Given the description of an element on the screen output the (x, y) to click on. 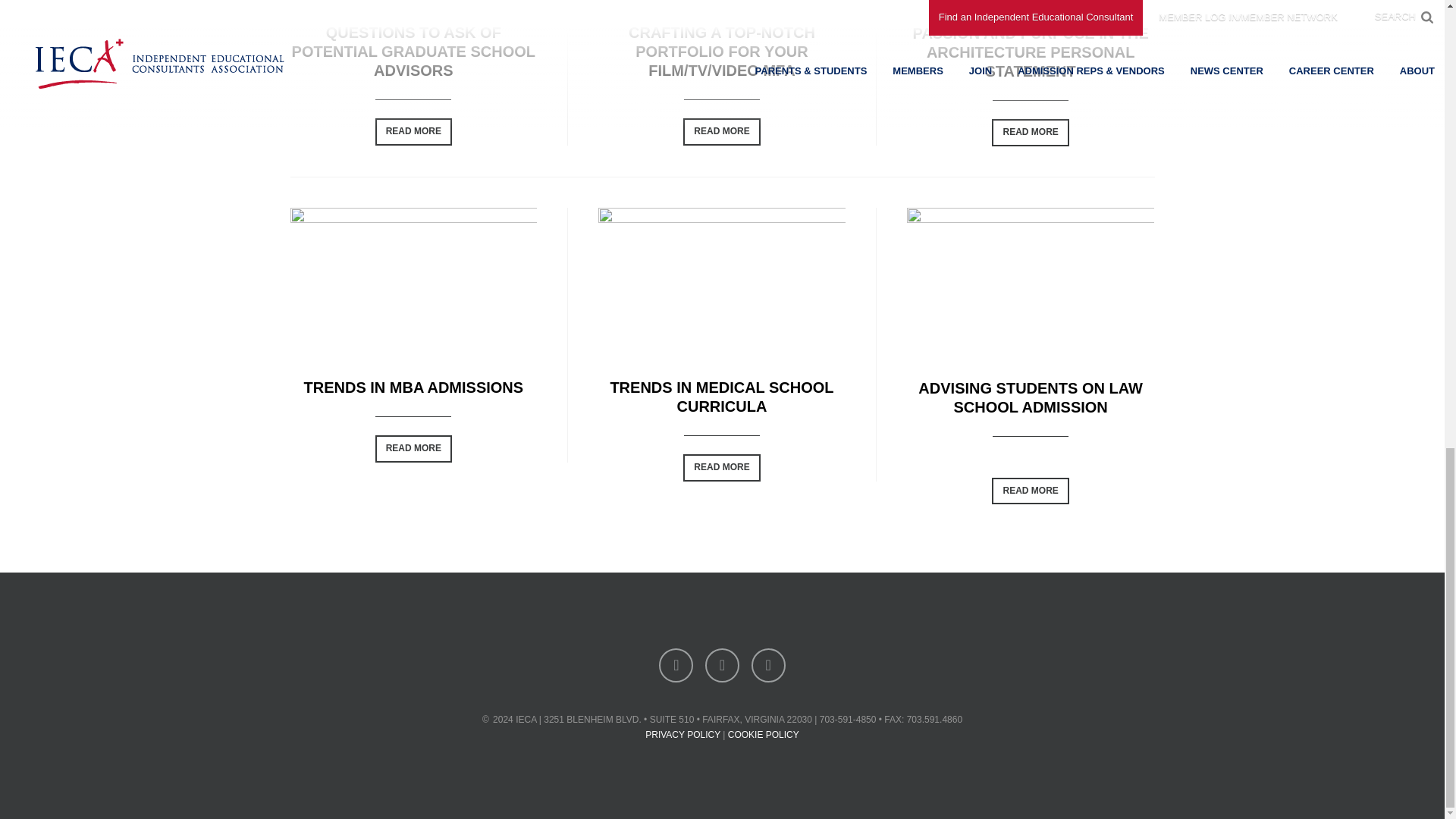
QUESTIONS TO ASK OF POTENTIAL GRADUATE SCHOOL ADVISORS (413, 51)
PASSION AND PURPOSE IN THE ARCHITECTURE PERSONAL STATEMENT (1030, 52)
TRENDS IN MBA ADMISSIONS (412, 387)
